Given the description of an element on the screen output the (x, y) to click on. 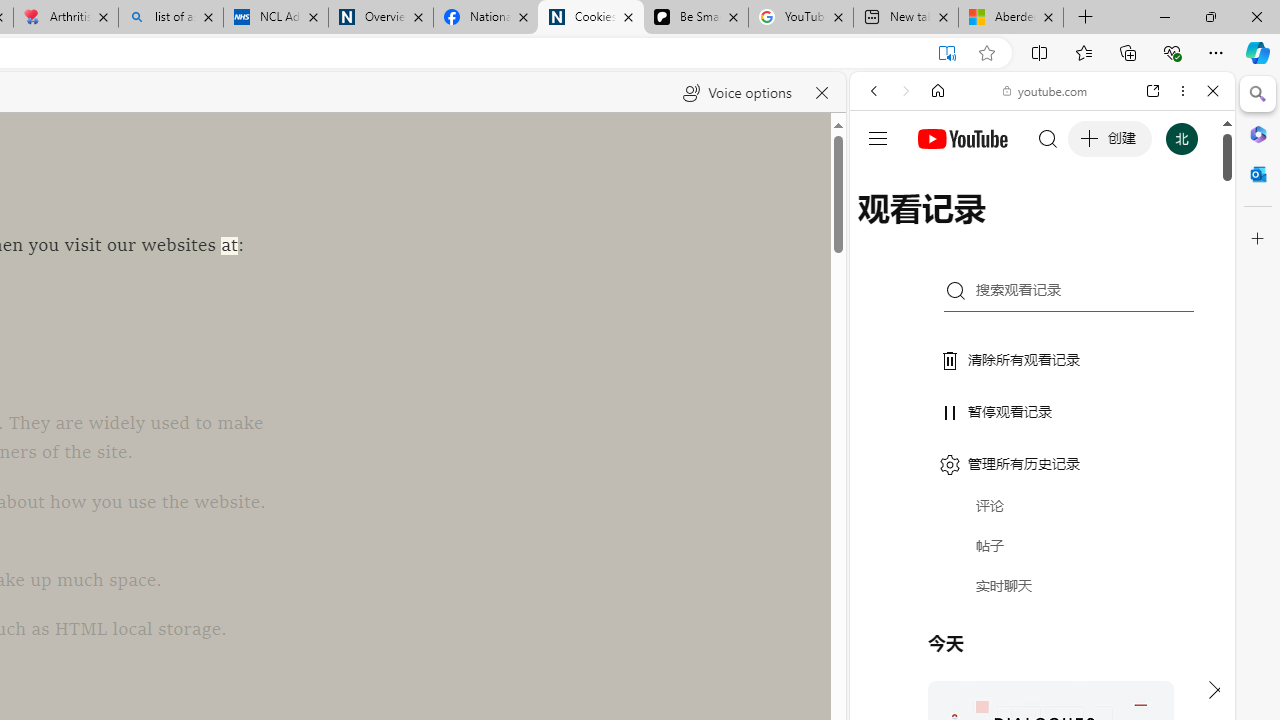
list of asthma inhalers uk - Search (170, 17)
Music (1042, 543)
WEB   (882, 228)
SEARCH TOOLS (1093, 228)
Search Filter, Search Tools (1093, 228)
Show More Music (1164, 546)
